Given the description of an element on the screen output the (x, y) to click on. 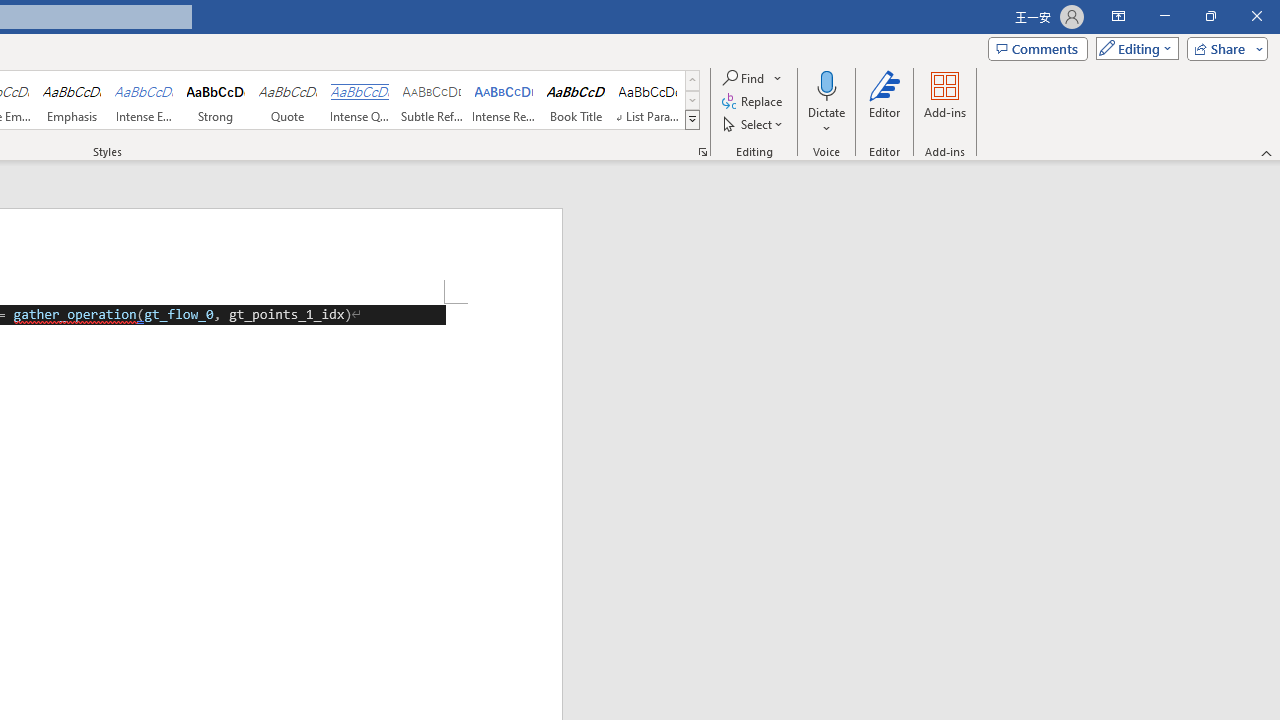
Select (754, 124)
Strong (216, 100)
Row Down (692, 100)
Emphasis (71, 100)
Replace... (753, 101)
Intense Emphasis (143, 100)
Editor (885, 102)
Collapse the Ribbon (1267, 152)
